Given the description of an element on the screen output the (x, y) to click on. 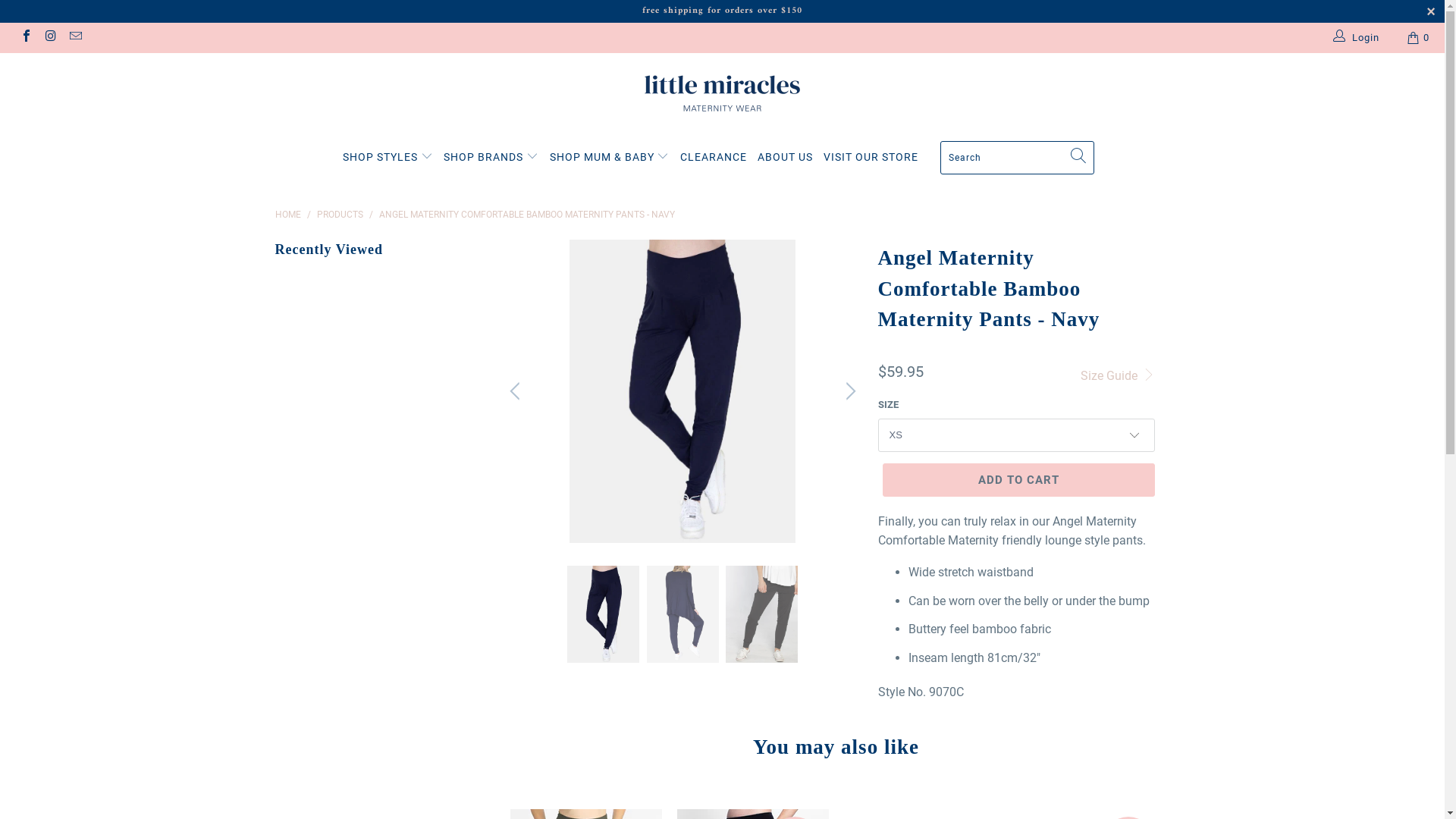
SHOP MUM & BABY Element type: text (609, 157)
Little Miracles Maternity Wear on Facebook Element type: hover (25, 37)
0 Element type: text (1419, 37)
Little Miracles Maternity Wear Element type: hover (722, 93)
Email Little Miracles Maternity Wear Element type: hover (74, 37)
Size Guide Element type: text (1117, 373)
SHOP STYLES Element type: text (387, 157)
Little Miracles Maternity Wear on Instagram Element type: hover (49, 37)
CLEARANCE Element type: text (713, 157)
Login Element type: text (1356, 37)
ABOUT US Element type: text (784, 157)
HOME Element type: text (287, 214)
PRODUCTS Element type: text (339, 214)
SHOP BRANDS Element type: text (490, 157)
VISIT OUR STORE Element type: text (870, 157)
ADD TO CART Element type: text (1018, 479)
ANGEL MATERNITY COMFORTABLE BAMBOO MATERNITY PANTS - NAVY Element type: text (526, 214)
